Given the description of an element on the screen output the (x, y) to click on. 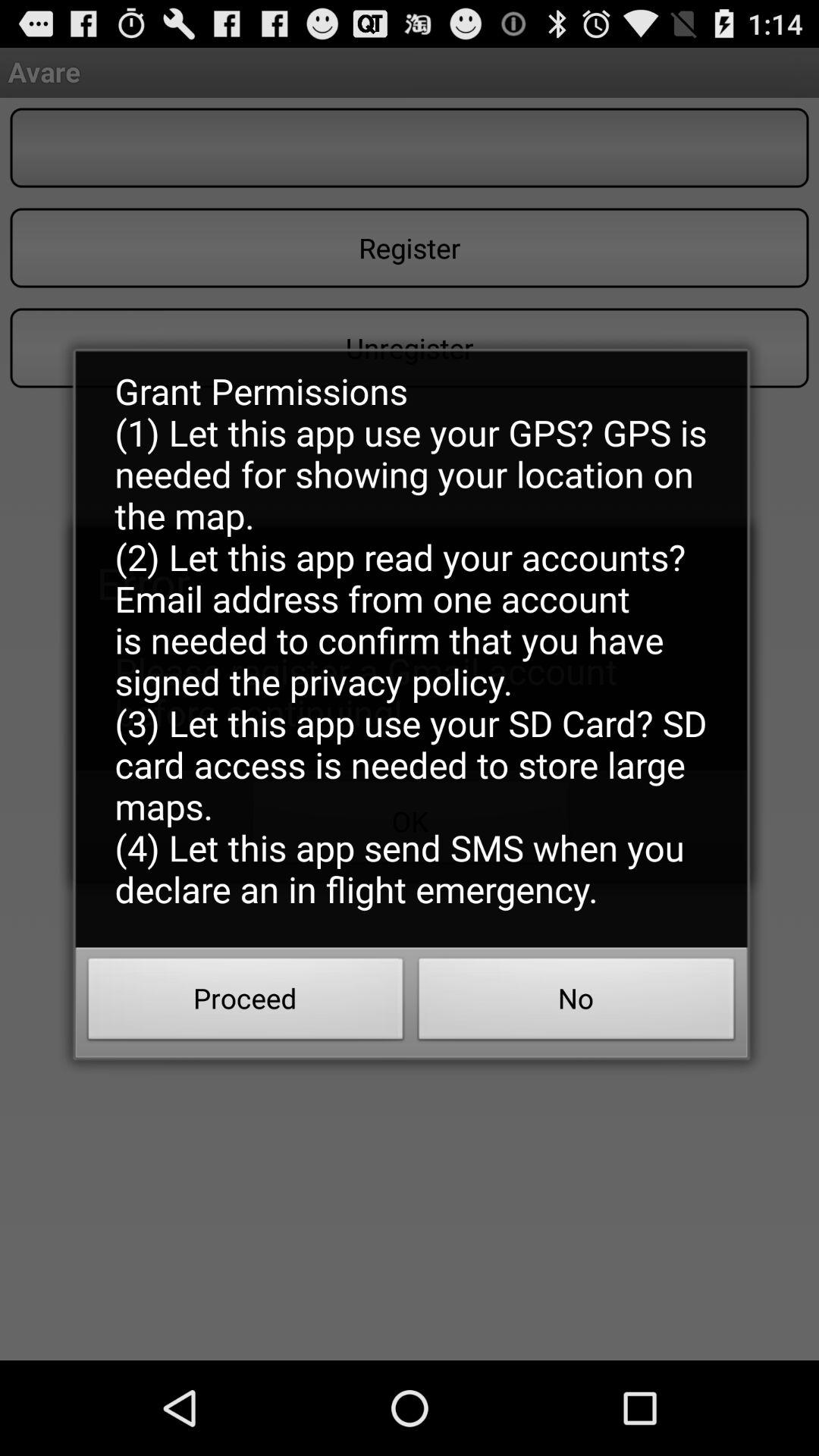
turn off the icon to the right of the proceed item (576, 1003)
